Given the description of an element on the screen output the (x, y) to click on. 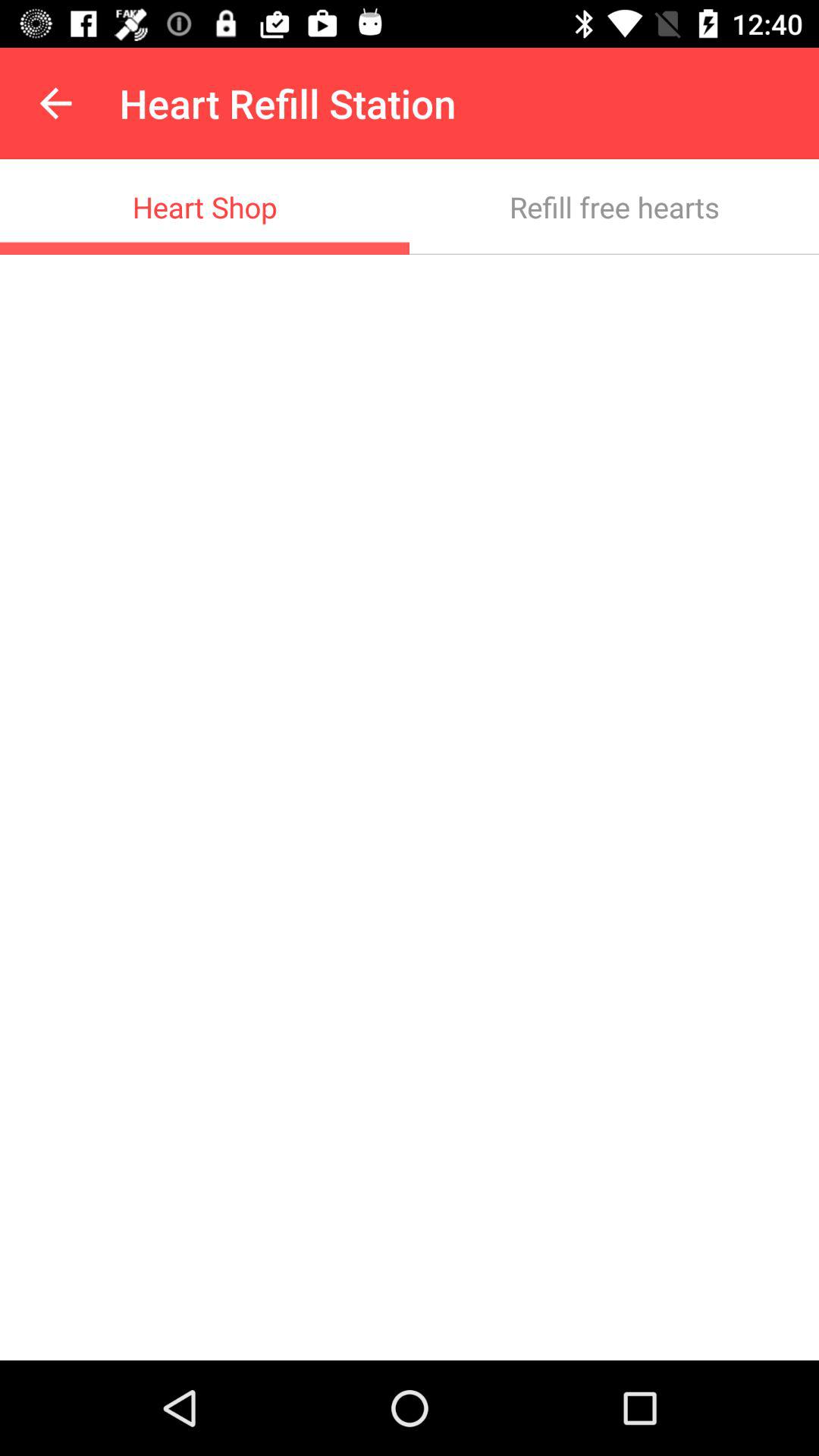
choose item next to the heart shop (614, 206)
